Given the description of an element on the screen output the (x, y) to click on. 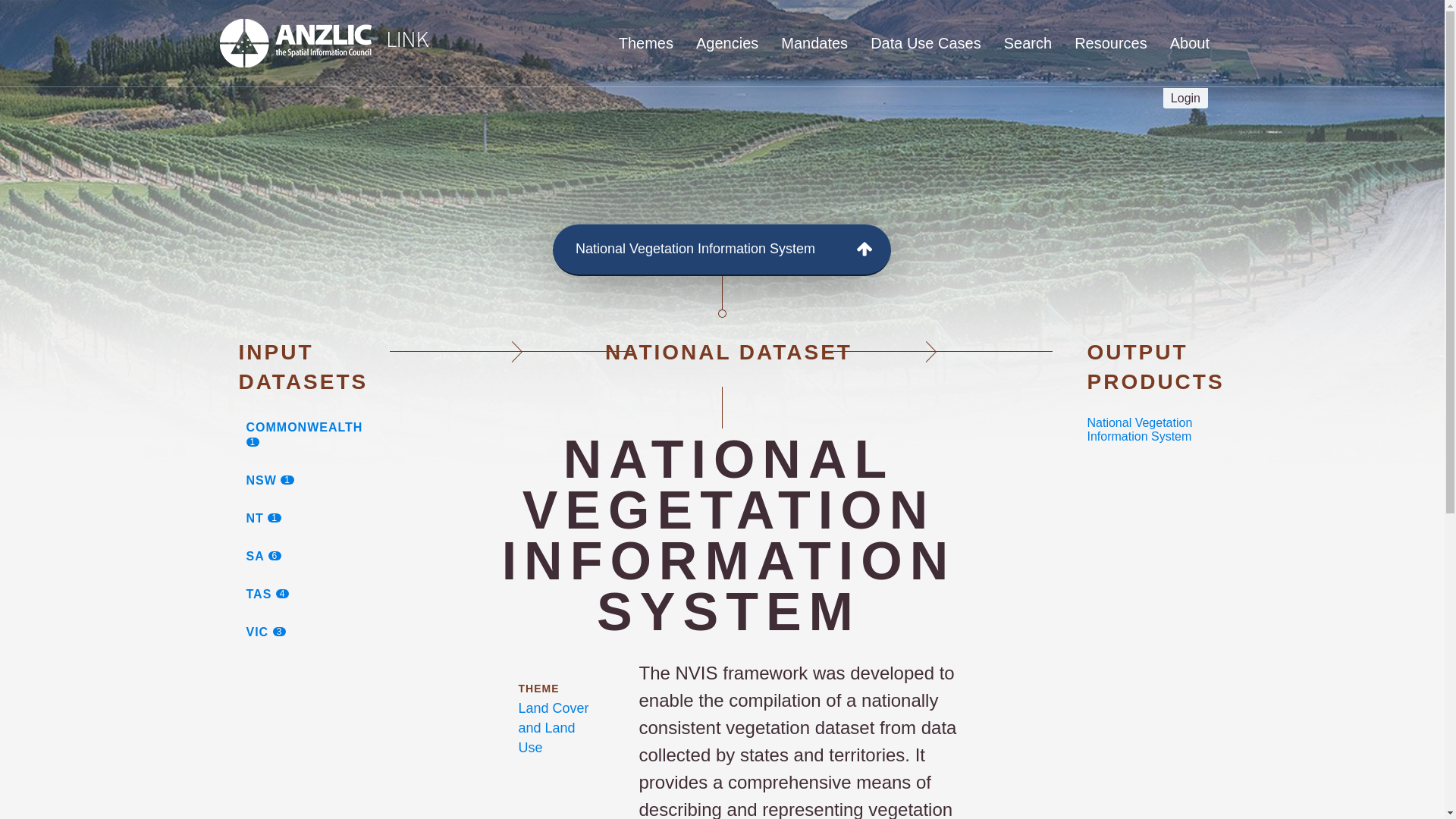
National Vegetation Information System (1139, 429)
Home (446, 128)
Data Use Cases (316, 480)
Agencies (925, 42)
Login (726, 42)
Land Cover and Land Use (1185, 97)
National Vegetation Information System (316, 556)
Themes (553, 728)
